Given the description of an element on the screen output the (x, y) to click on. 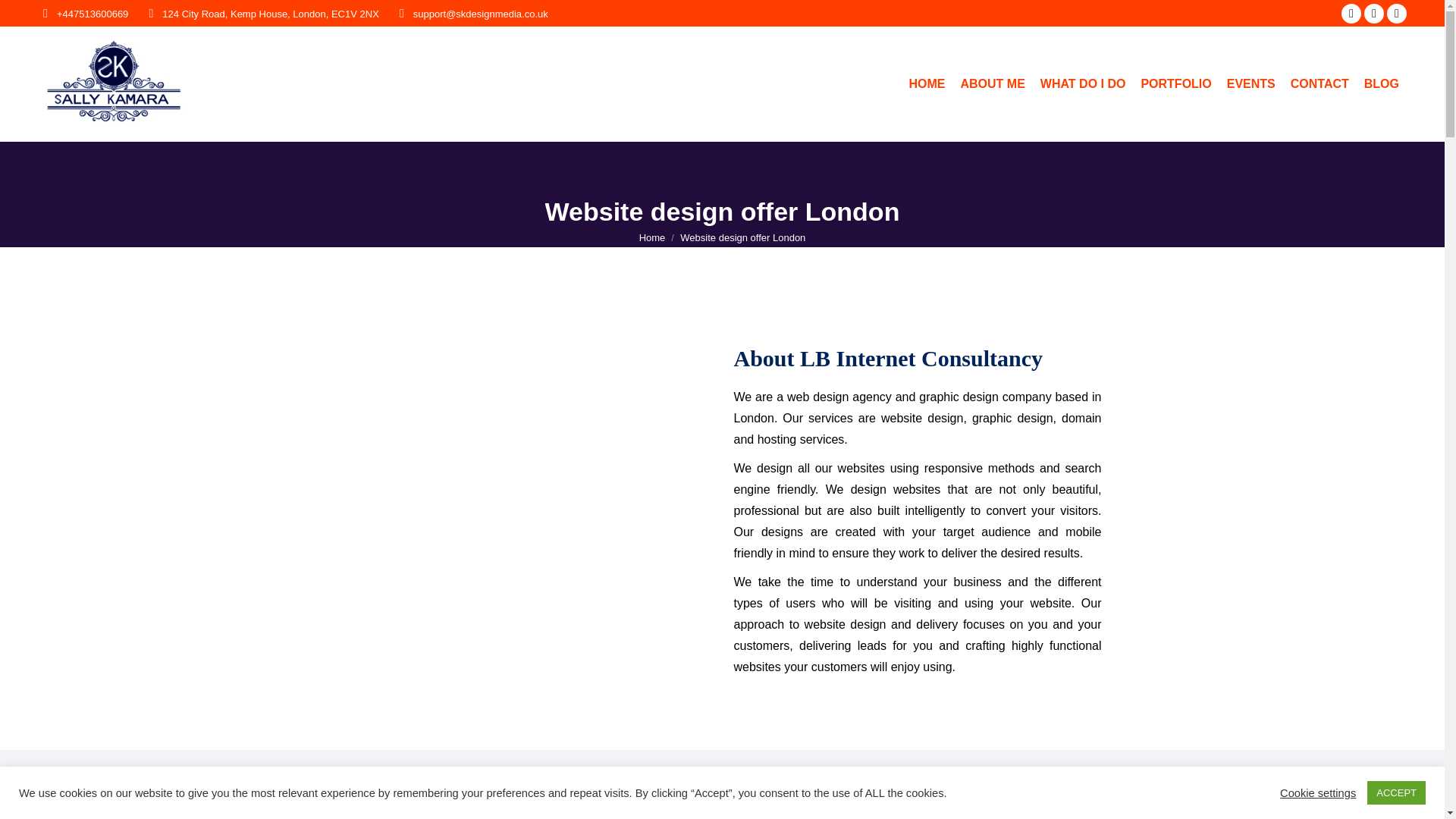
Twitter page opens in new window (1374, 13)
CONTACT (1319, 83)
Instagram page opens in new window (1396, 13)
Instagram page opens in new window (1396, 13)
Twitter page opens in new window (1374, 13)
Facebook page opens in new window (1350, 13)
HOME (926, 83)
PORTFOLIO (1175, 83)
BLOG (1381, 83)
EVENTS (1251, 83)
WHAT DO I DO (1083, 83)
Home (652, 237)
Facebook page opens in new window (1350, 13)
ABOUT ME (992, 83)
